Given the description of an element on the screen output the (x, y) to click on. 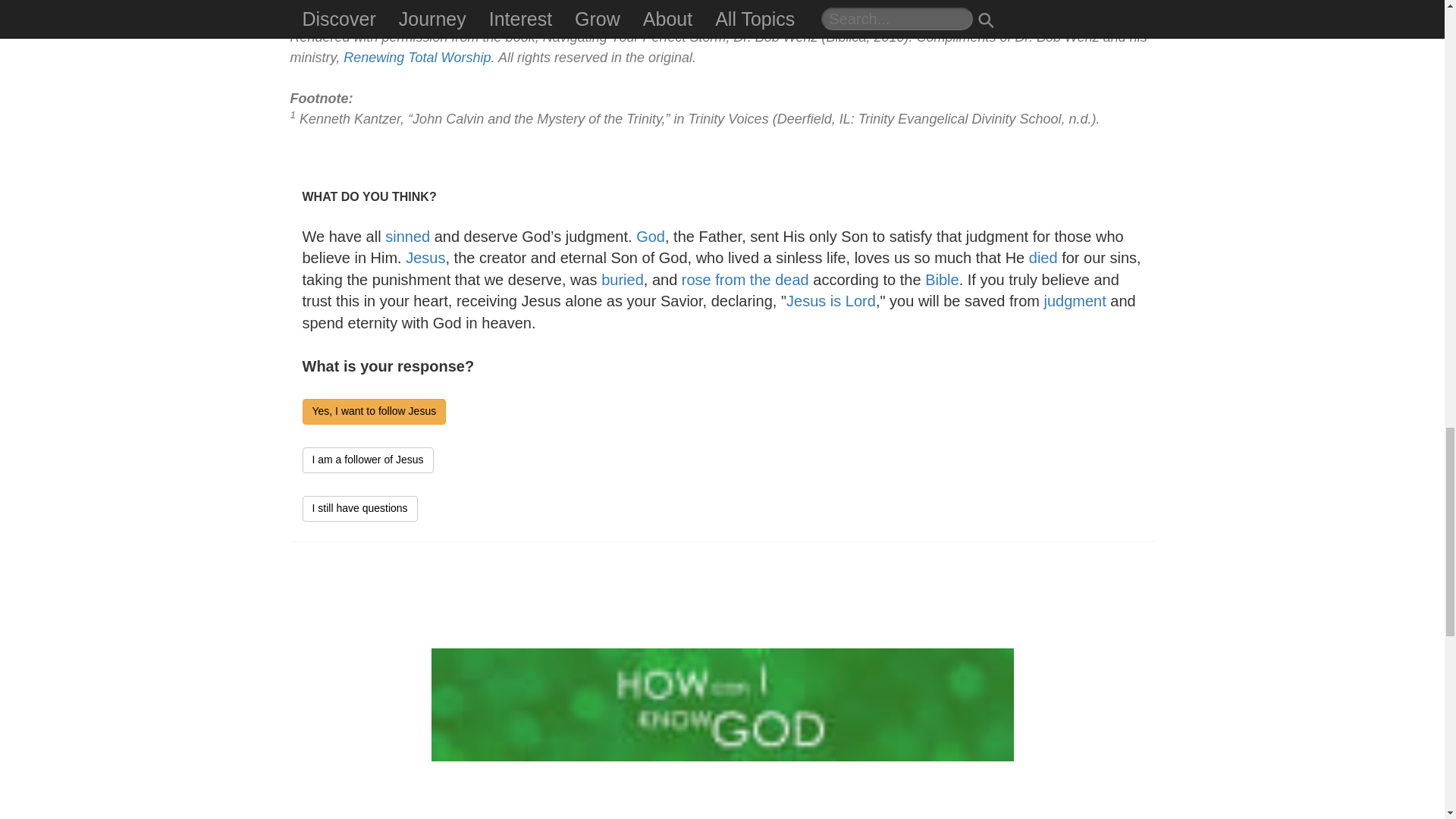
Bible (941, 279)
buried (622, 279)
Jesus is Lord (831, 300)
God (650, 236)
rose from the dead (745, 279)
sinned (407, 236)
died (1043, 257)
I am a follower of Jesus (366, 460)
I still have questions (358, 508)
Jesus (425, 257)
